Given the description of an element on the screen output the (x, y) to click on. 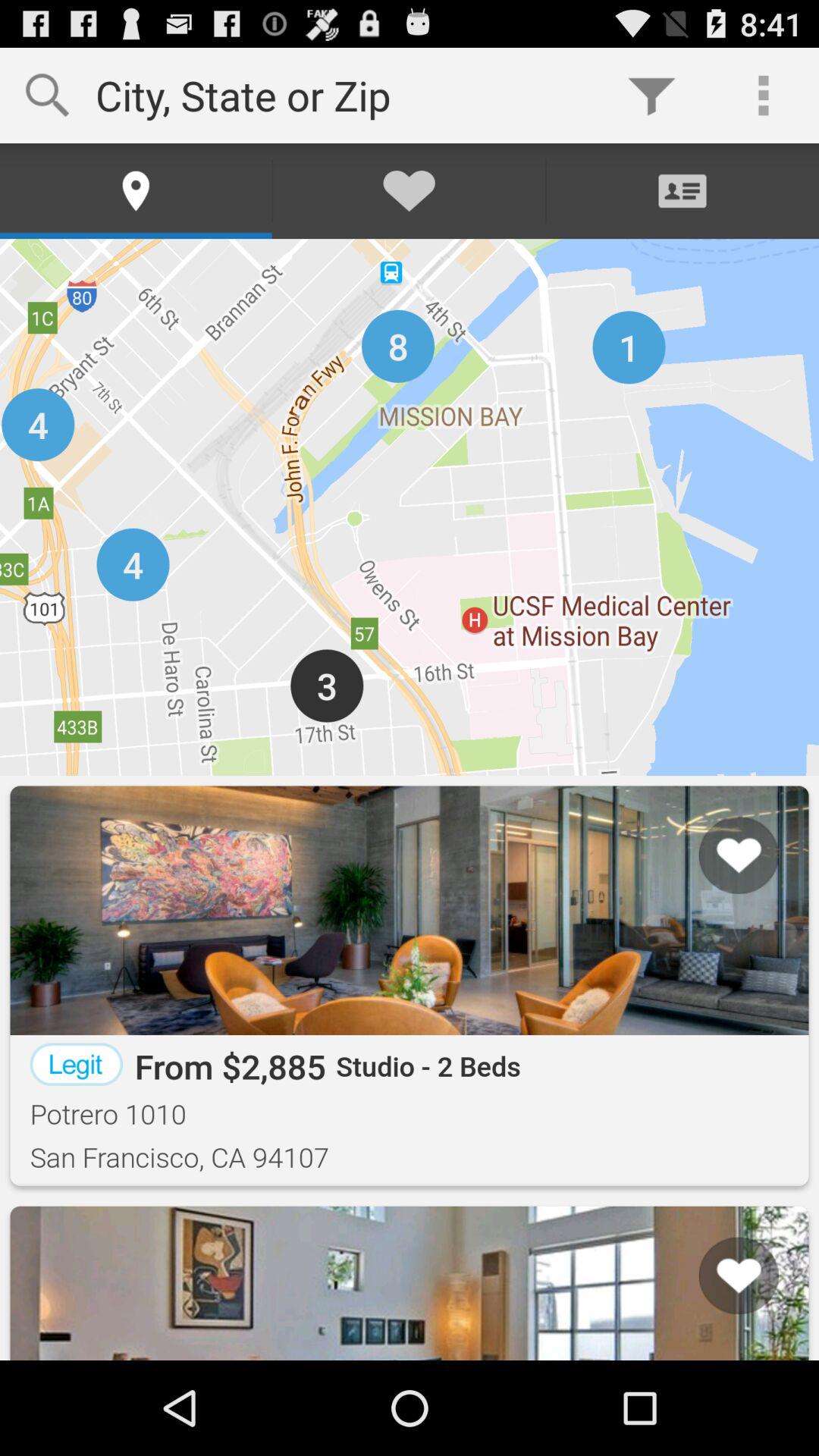
tap item to the right of city state or icon (651, 95)
